Given the description of an element on the screen output the (x, y) to click on. 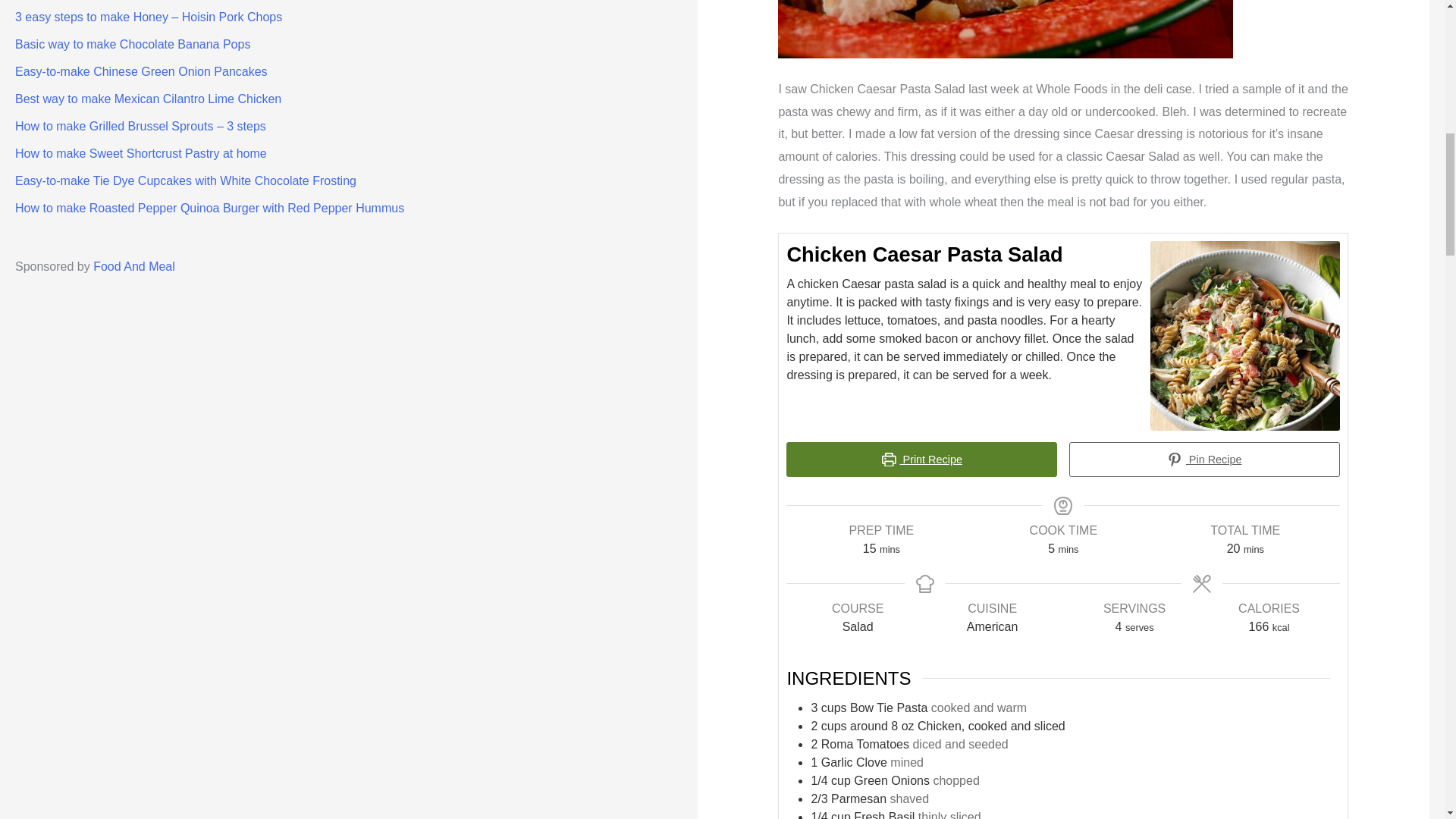
ChickenPastaSalad1 (1005, 29)
